Given the description of an element on the screen output the (x, y) to click on. 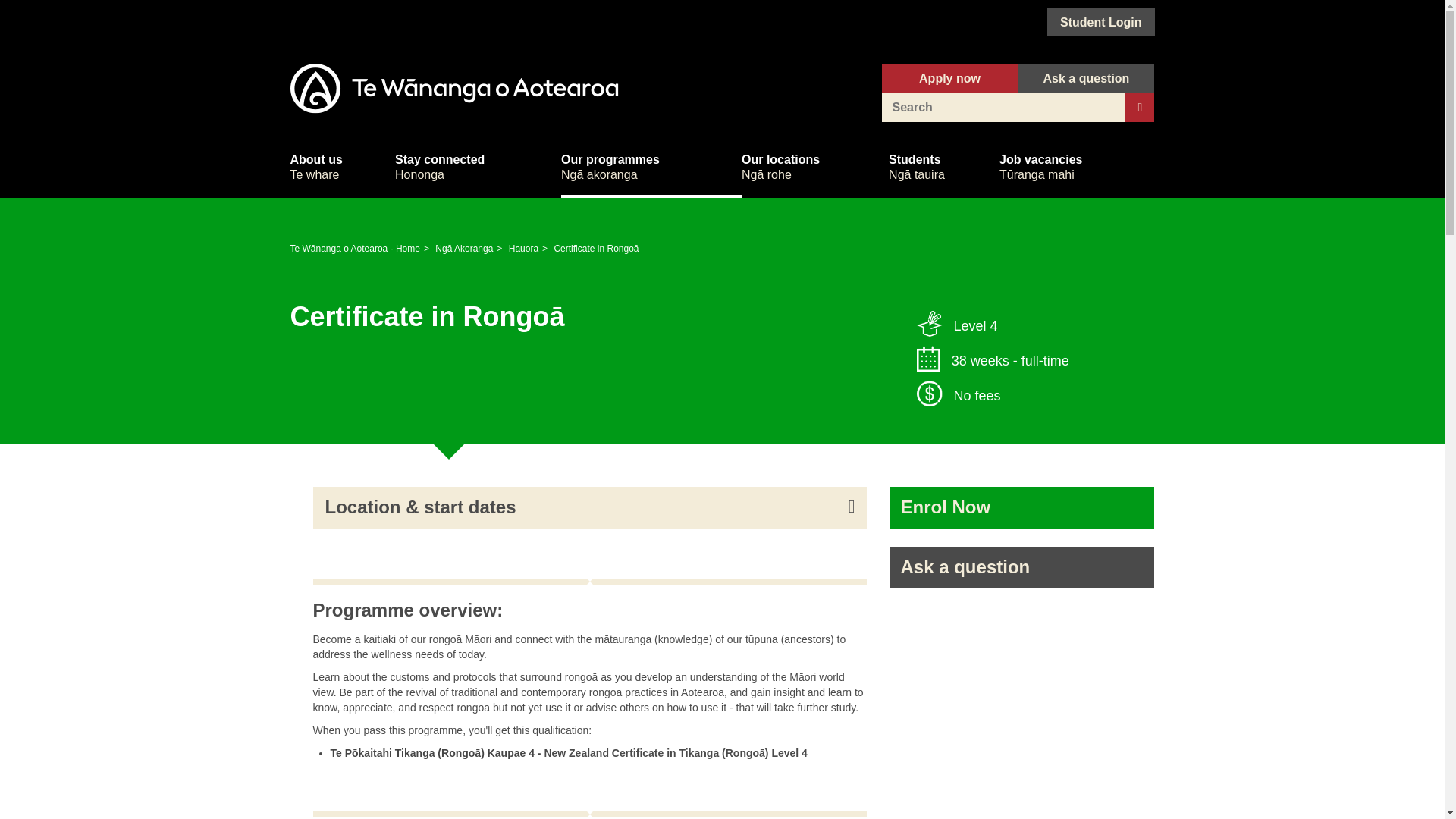
Ask a question (1085, 77)
Student Login (341, 167)
Ask a question (1100, 21)
Apply now (1021, 567)
Enrol Now (948, 77)
Hauora (477, 167)
